Given the description of an element on the screen output the (x, y) to click on. 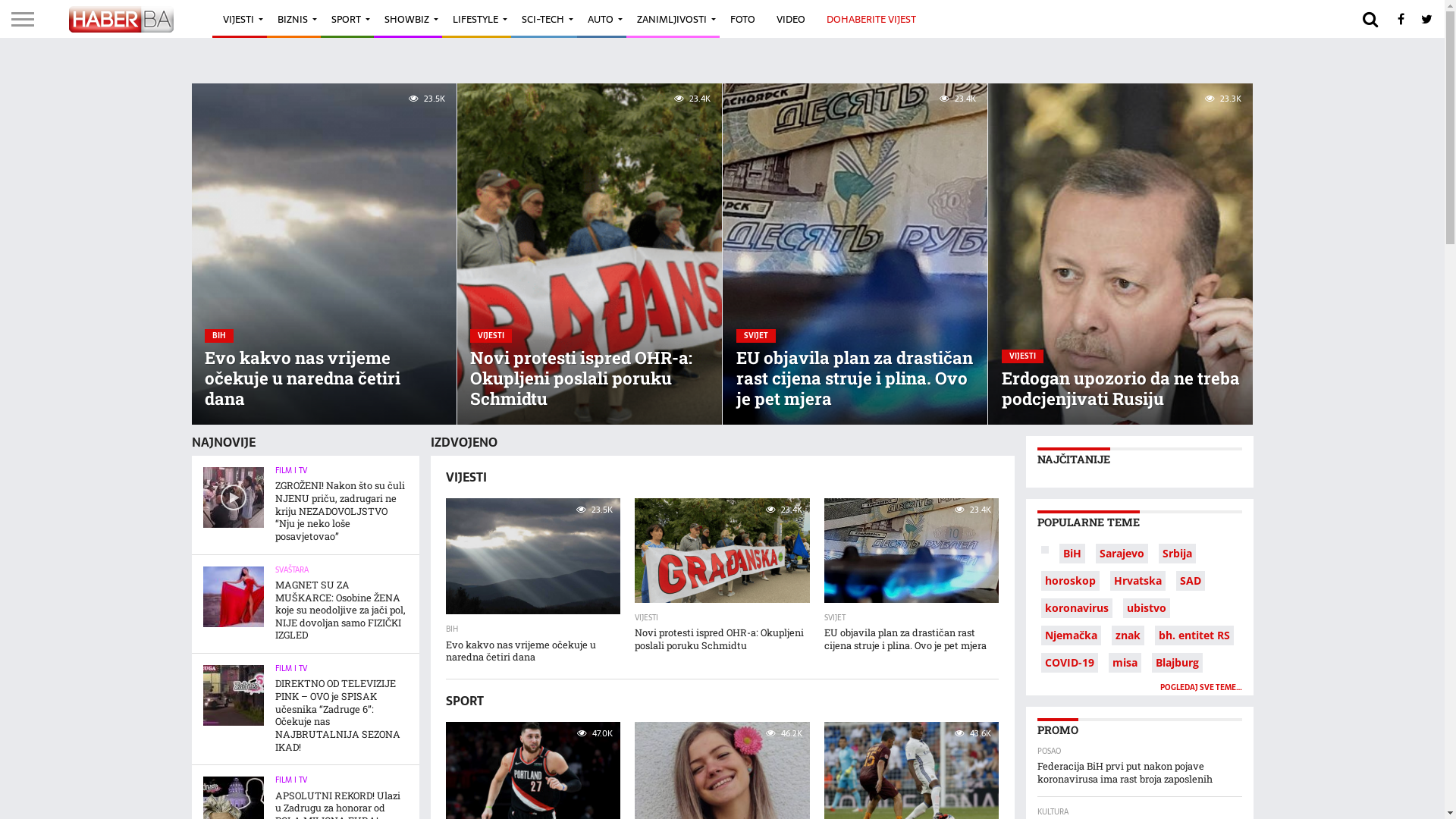
koronavirus Element type: text (1076, 607)
ZANIMLJIVOSTI Element type: text (672, 18)
LIFESTYLE Element type: text (476, 18)
SHOWBIZ Element type: text (407, 18)
VIDEO Element type: text (790, 18)
AUTO Element type: text (601, 18)
ubistvo Element type: text (1146, 607)
SAD Element type: text (1190, 580)
SPORT Element type: text (346, 18)
DOHABERITE VIJEST Element type: text (870, 18)
horoskop Element type: text (1069, 580)
COVID-19 Element type: text (1069, 662)
znak Element type: text (1126, 634)
Srbija Element type: text (1176, 553)
Sarajevo Element type: text (1121, 553)
SCI-TECH Element type: text (544, 18)
bh. entitet RS Element type: text (1194, 634)
VIJESTI Element type: text (239, 18)
BiH Element type: text (1072, 553)
Hrvatska Element type: text (1137, 580)
Blajburg Element type: text (1176, 662)
misa Element type: text (1123, 662)
FOTO Element type: text (742, 18)
BIZNIS Element type: text (293, 18)
